Given the description of an element on the screen output the (x, y) to click on. 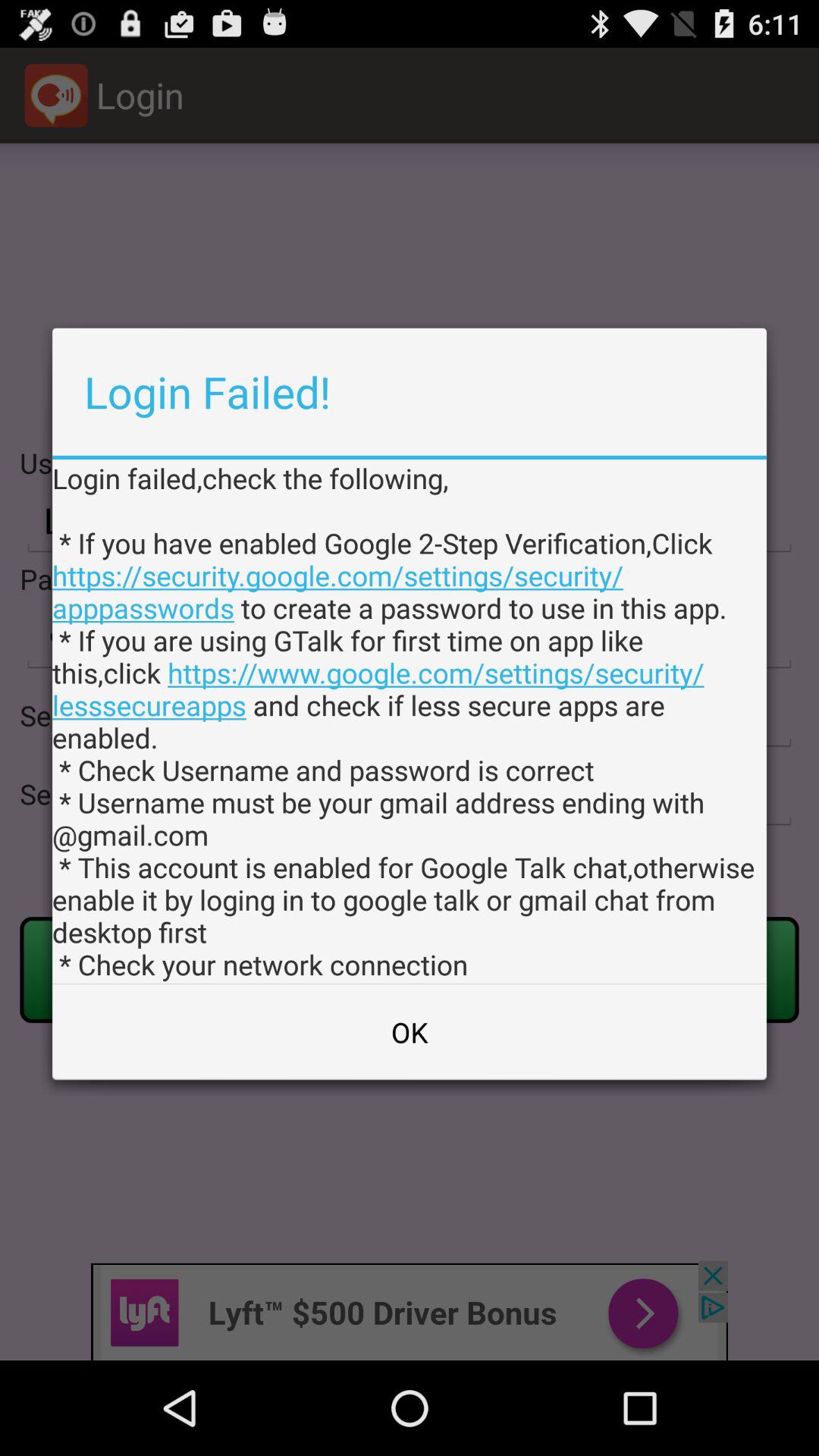
open the icon below login failed check icon (409, 1032)
